Given the description of an element on the screen output the (x, y) to click on. 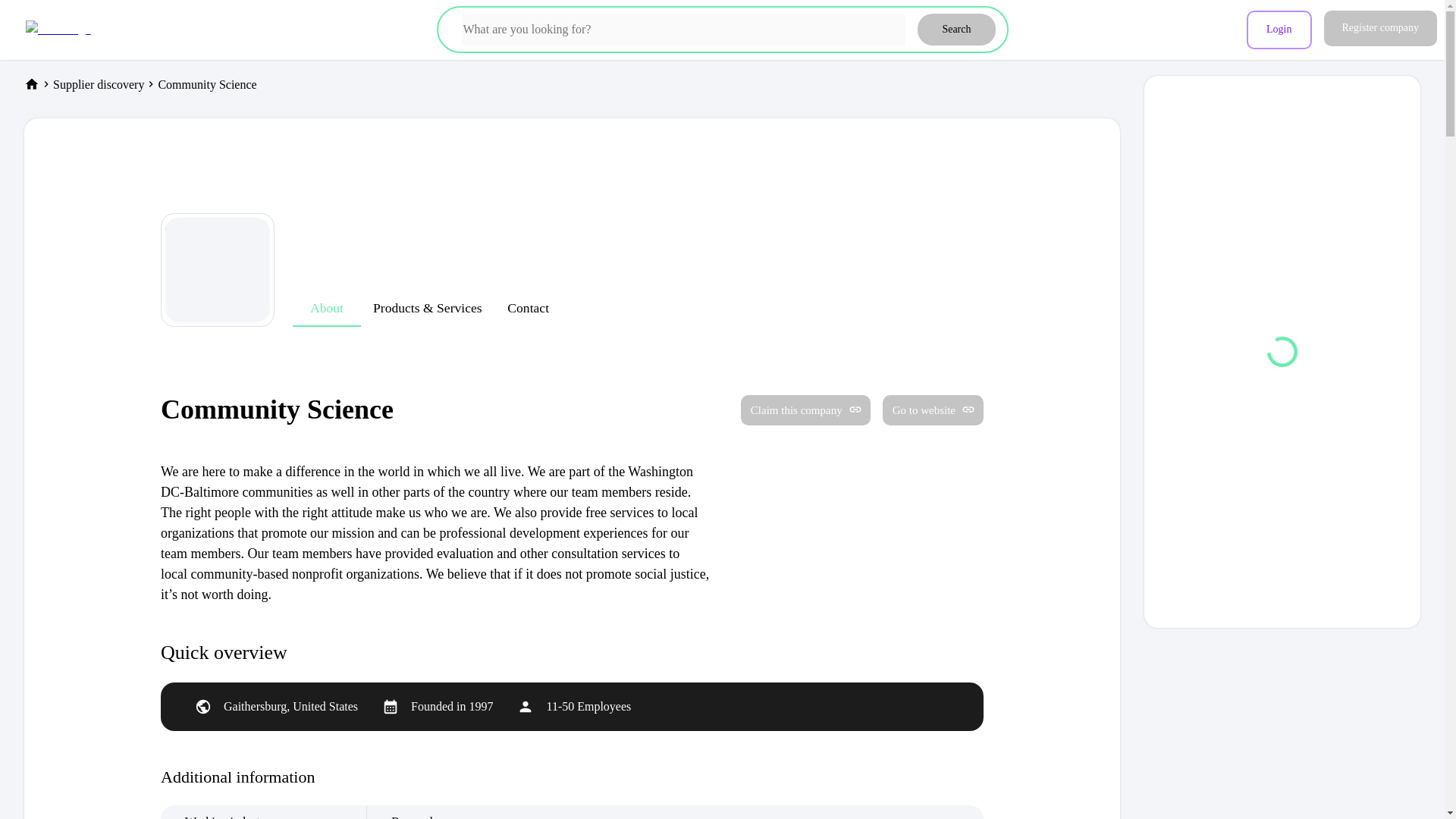
Community Science (206, 83)
Claim this company (805, 409)
Supplier discovery (98, 83)
About (326, 308)
Go to website (933, 409)
Go to website (927, 409)
Register company (1380, 27)
Register company (1380, 29)
Login (1278, 29)
Contact (528, 308)
Search (955, 29)
